Given the description of an element on the screen output the (x, y) to click on. 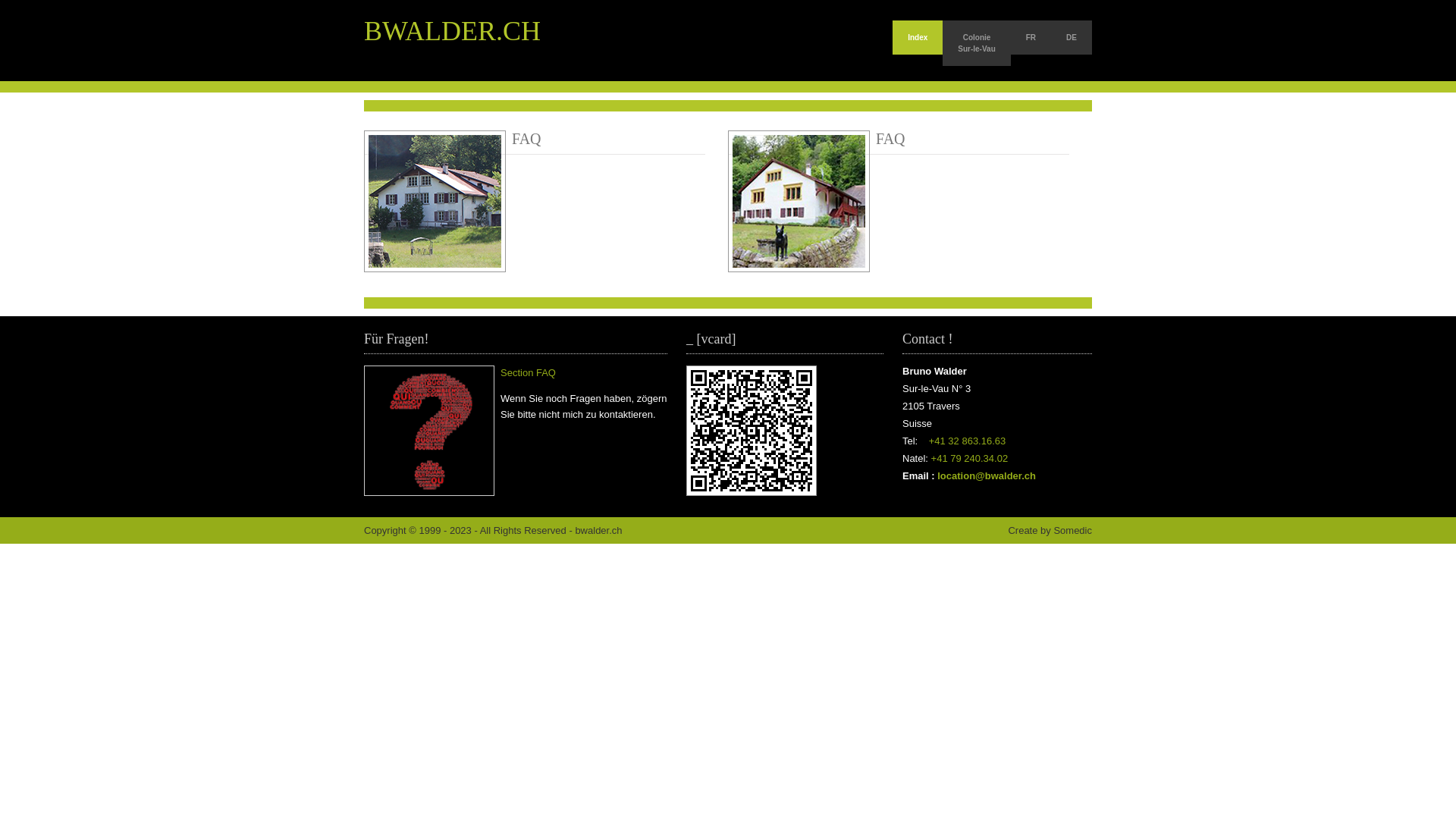
+41 32 863.16.63 Element type: text (967, 440)
BWALDER.CH Element type: text (452, 30)
DE Element type: text (1071, 37)
bwalder.ch Element type: text (597, 530)
+41 79 240.34.02 Element type: text (969, 458)
Colonie
Sur-le-Vau Element type: text (976, 42)
FR Element type: text (1030, 37)
location@bwalder.ch Element type: text (986, 475)
Create by Somedic Element type: text (1049, 530)
Section FAQ Element type: text (527, 372)
Index Element type: text (917, 37)
